Given the description of an element on the screen output the (x, y) to click on. 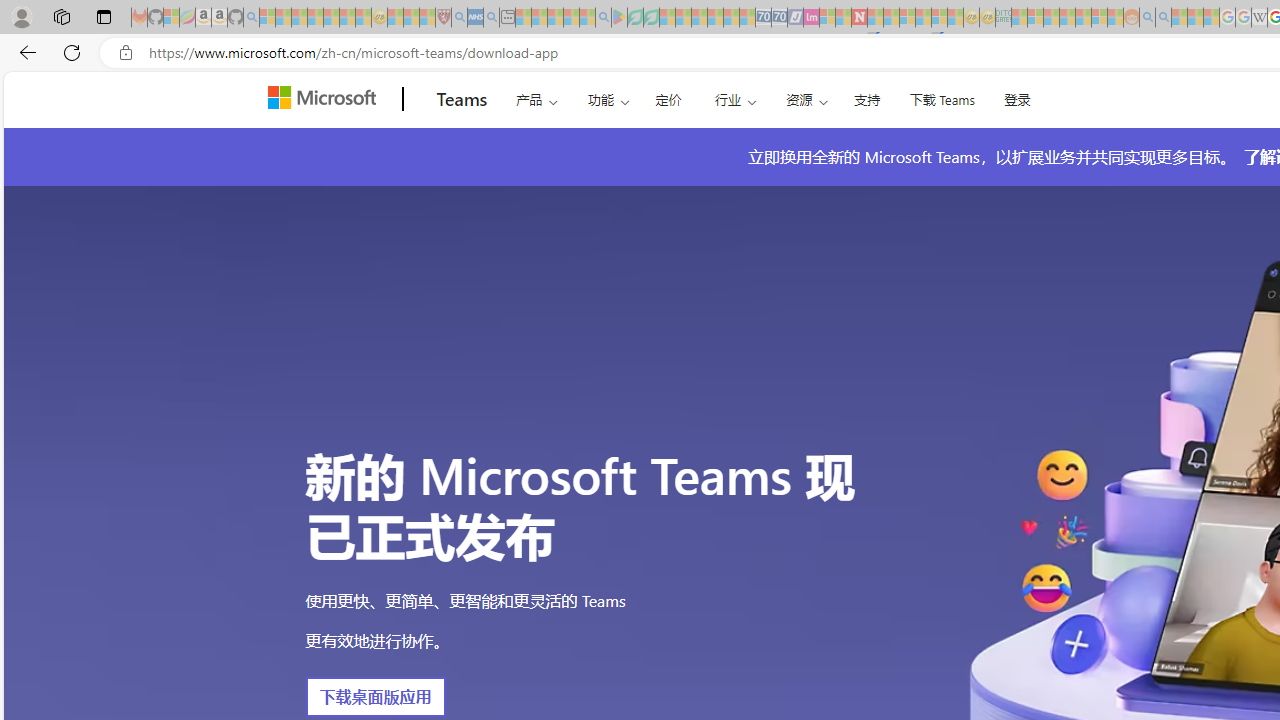
Jobs - lastminute.com Investor Portal - Sleeping (811, 17)
Pets - MSN - Sleeping (571, 17)
Target page - Wikipedia - Sleeping (1259, 17)
google - Search - Sleeping (603, 17)
MSNBC - MSN - Sleeping (1019, 17)
